Given the description of an element on the screen output the (x, y) to click on. 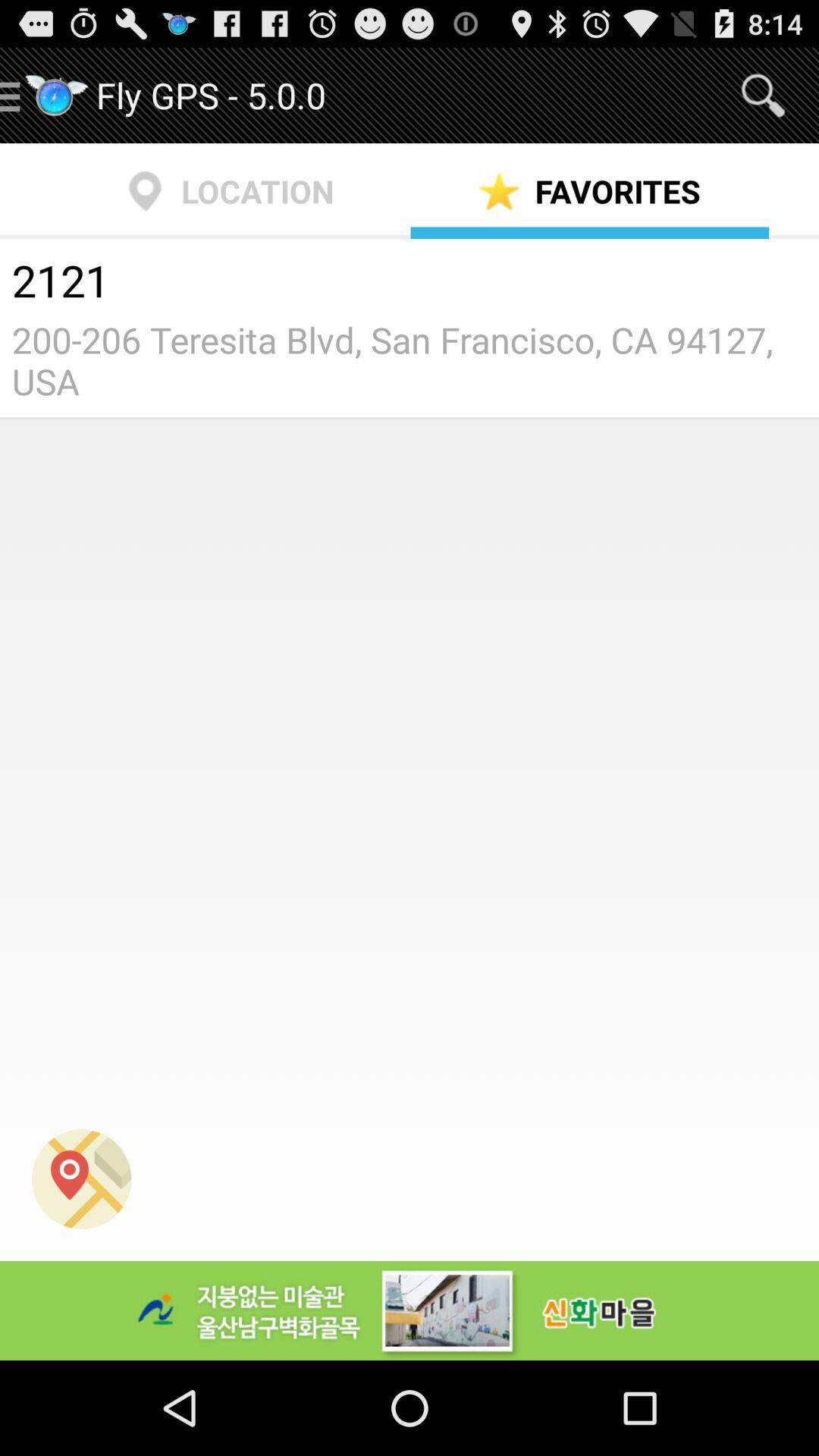
select the icon next to the fly gps 5 icon (763, 95)
